Given the description of an element on the screen output the (x, y) to click on. 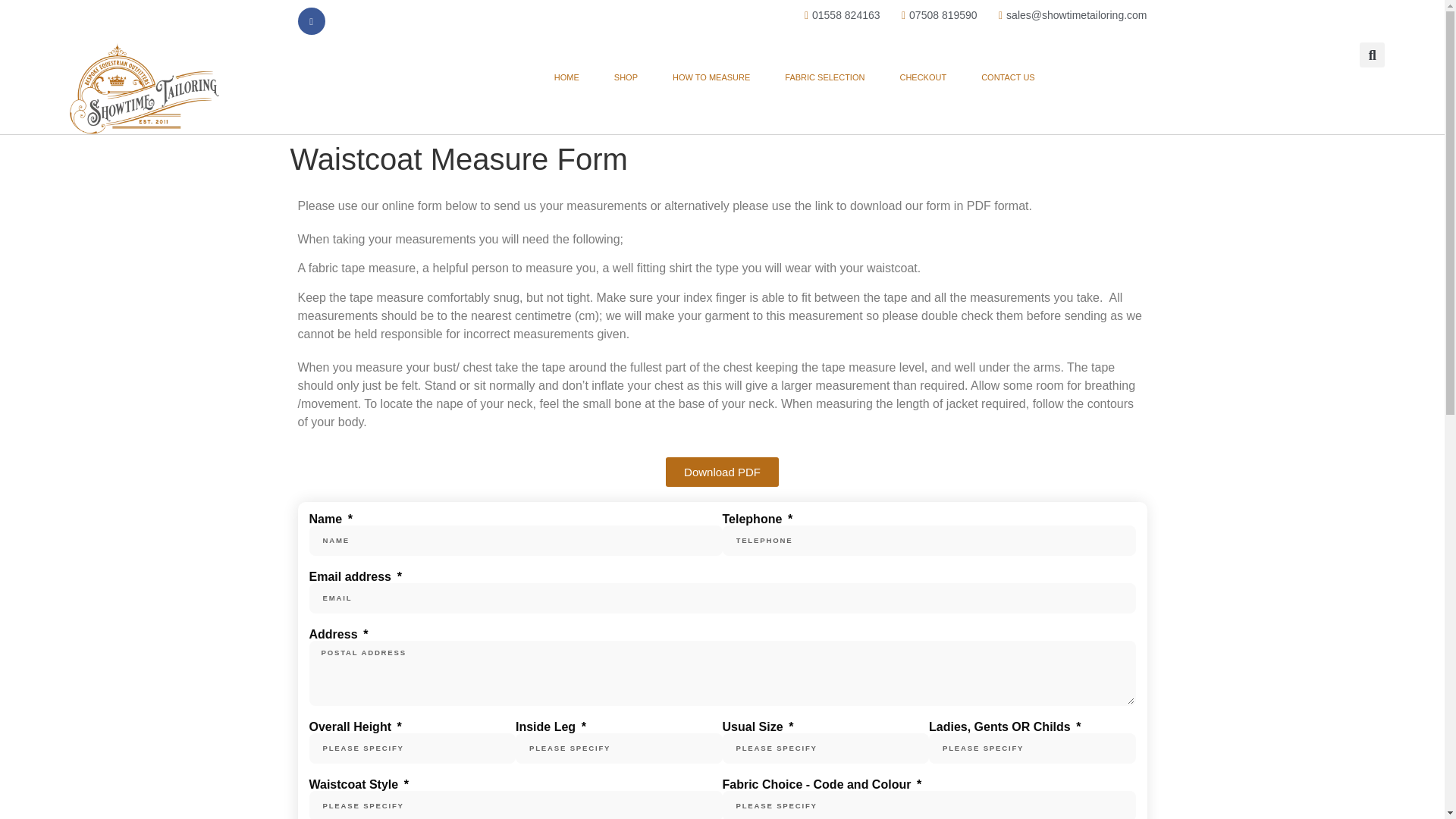
FABRIC SELECTION (824, 77)
HOME (566, 77)
SHOP (625, 77)
07508 819590 (934, 15)
01558 824163 (837, 15)
HOW TO MEASURE (711, 77)
